Given the description of an element on the screen output the (x, y) to click on. 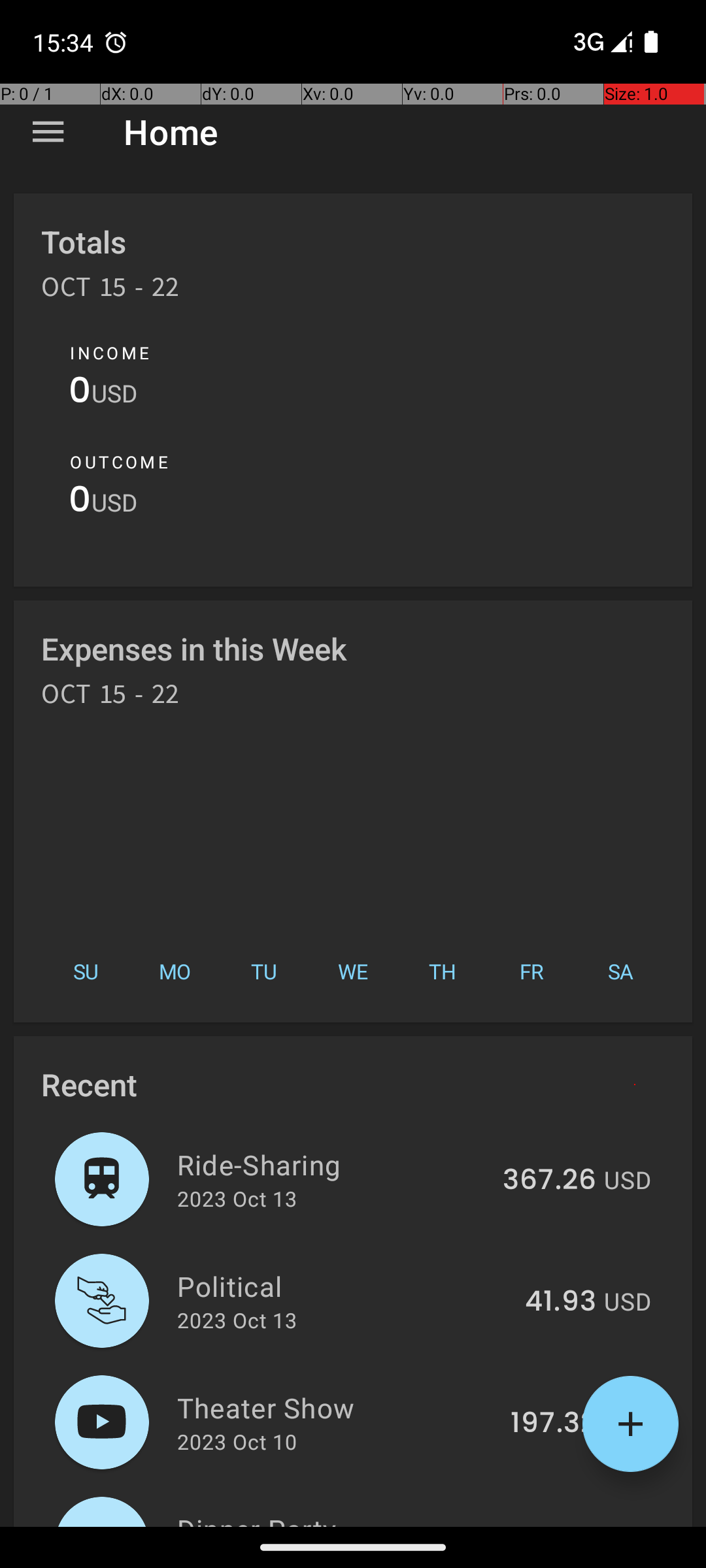
367.26 Element type: android.widget.TextView (549, 1180)
41.93 Element type: android.widget.TextView (560, 1301)
Theater Show Element type: android.widget.TextView (336, 1407)
197.32 Element type: android.widget.TextView (552, 1423)
499.74 Element type: android.widget.TextView (547, 1524)
